Given the description of an element on the screen output the (x, y) to click on. 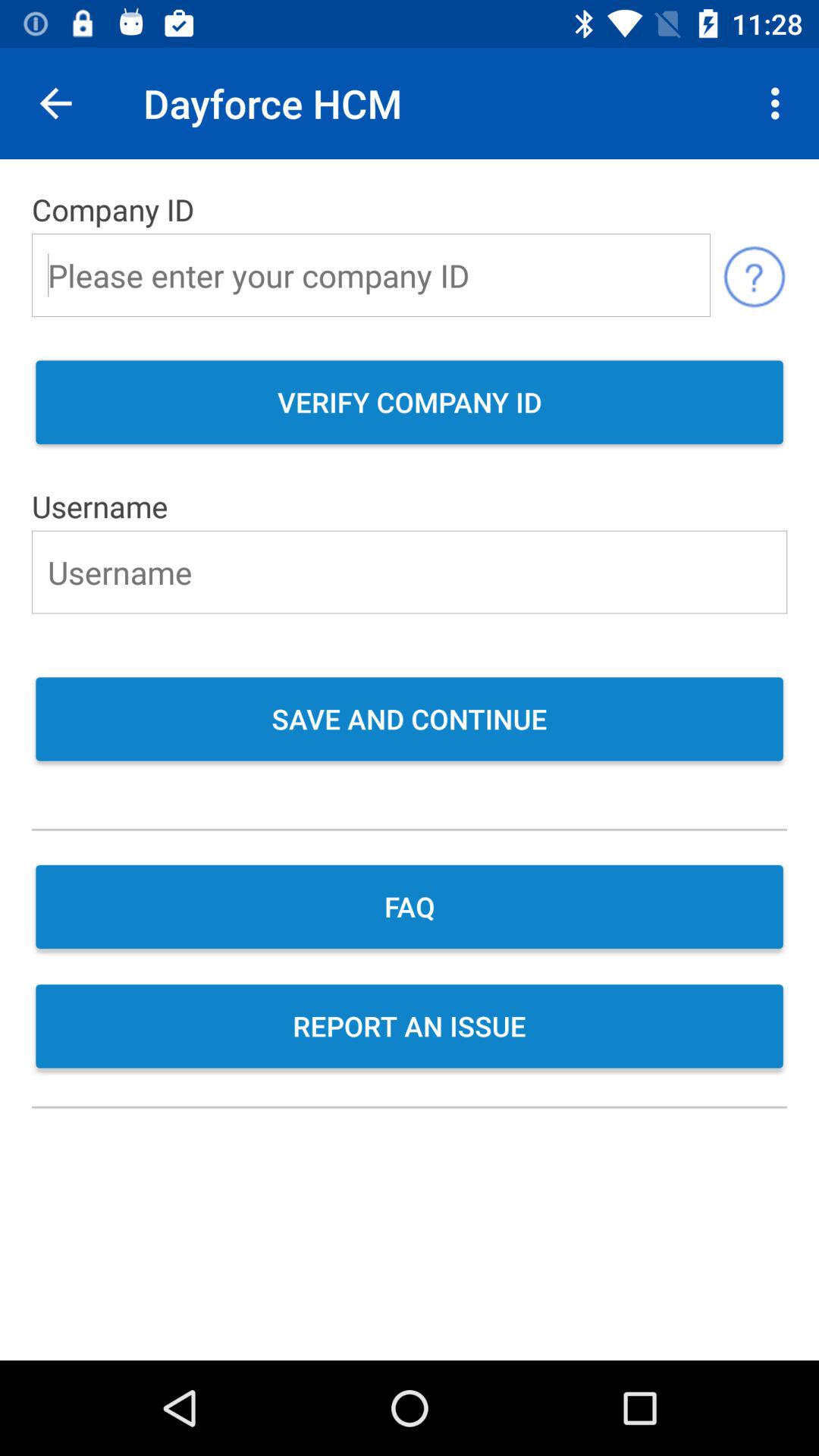
turn off icon above verify company id (753, 274)
